Given the description of an element on the screen output the (x, y) to click on. 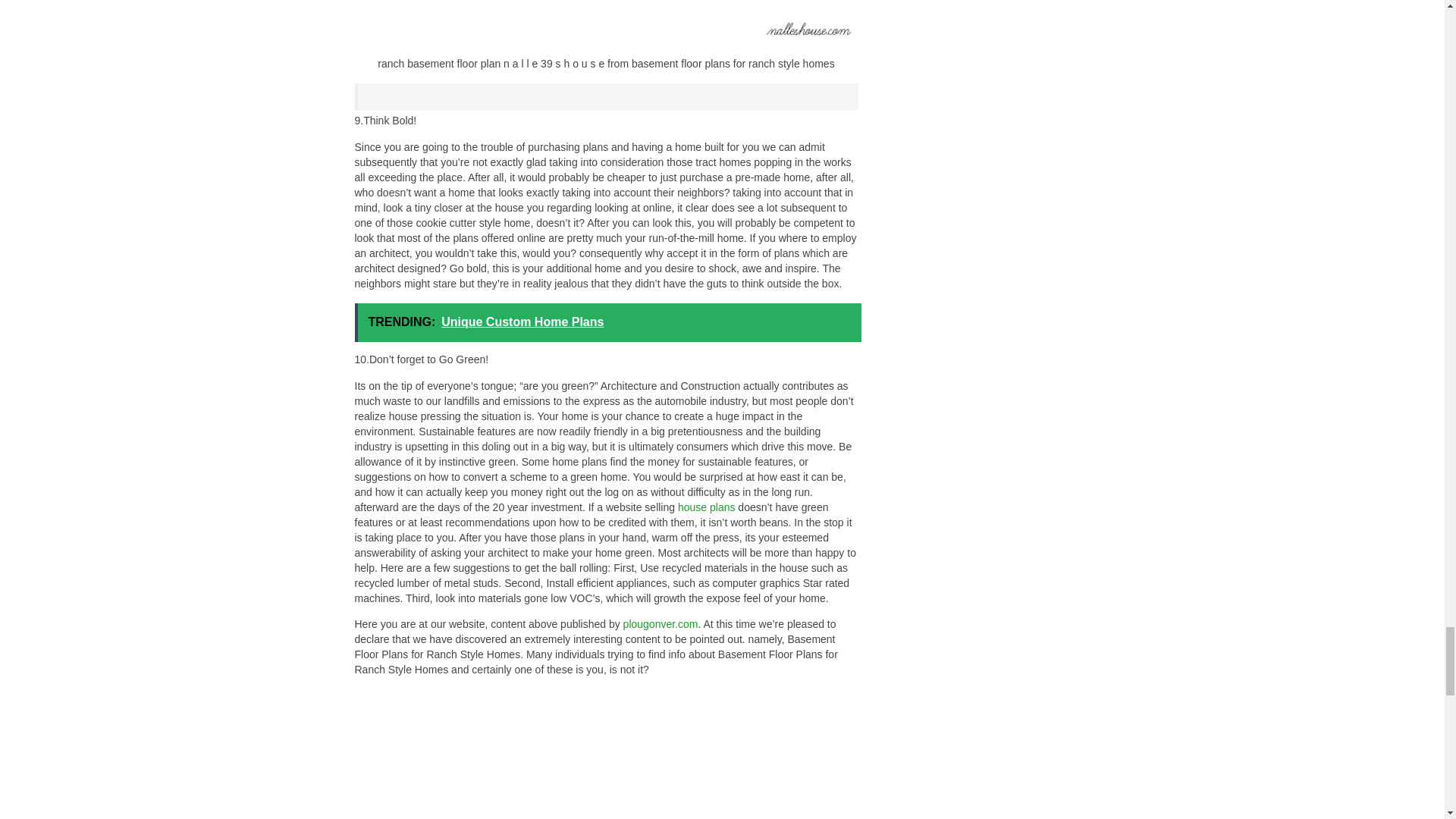
TRENDING:  Unique Custom Home Plans (608, 322)
plougonver.com (660, 623)
house plans (706, 507)
ranch basement floor plan n a l l e 39 s h o u s e (607, 22)
